Given the description of an element on the screen output the (x, y) to click on. 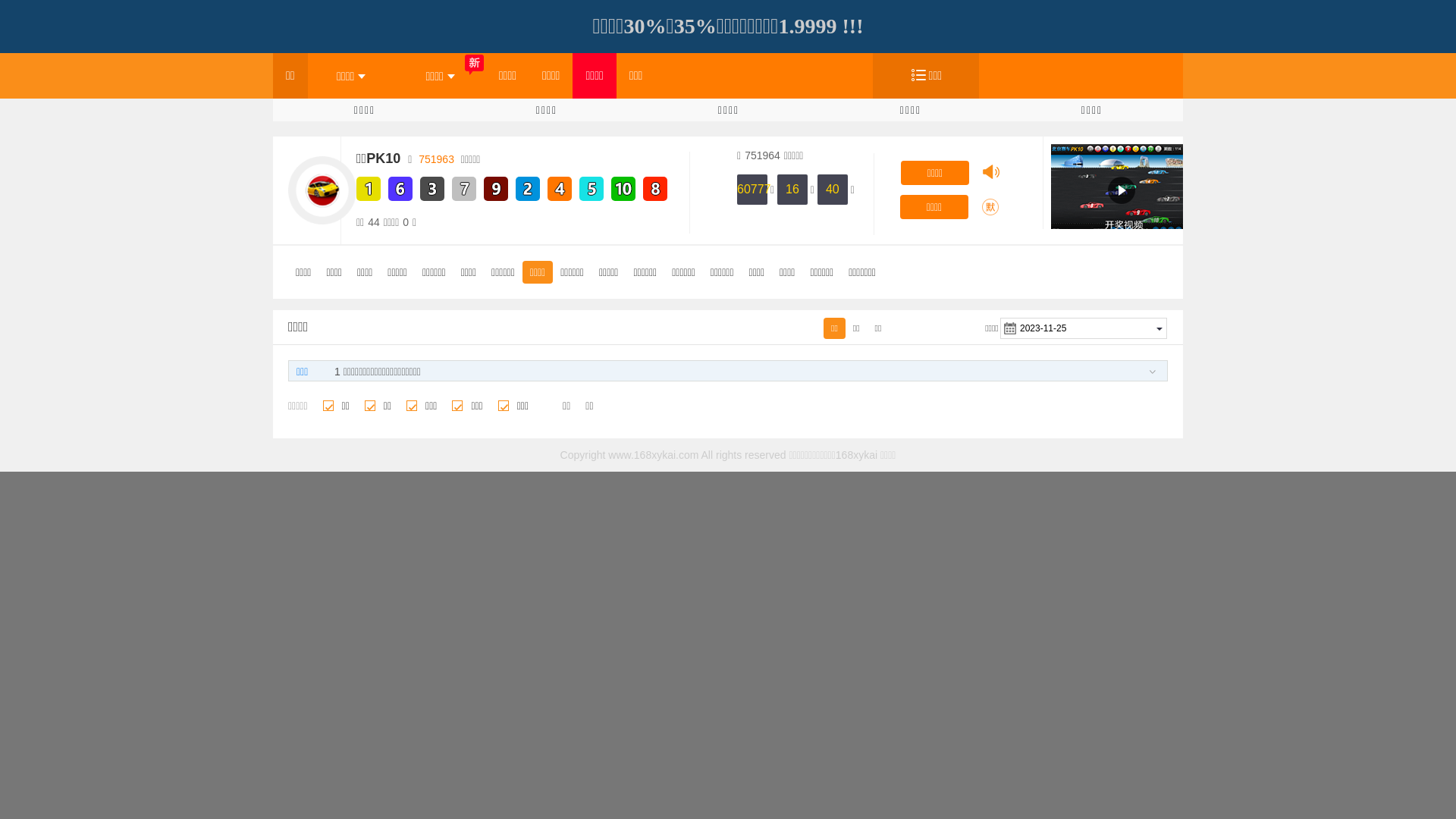
www.168xykai.com Element type: text (653, 454)
